Given the description of an element on the screen output the (x, y) to click on. 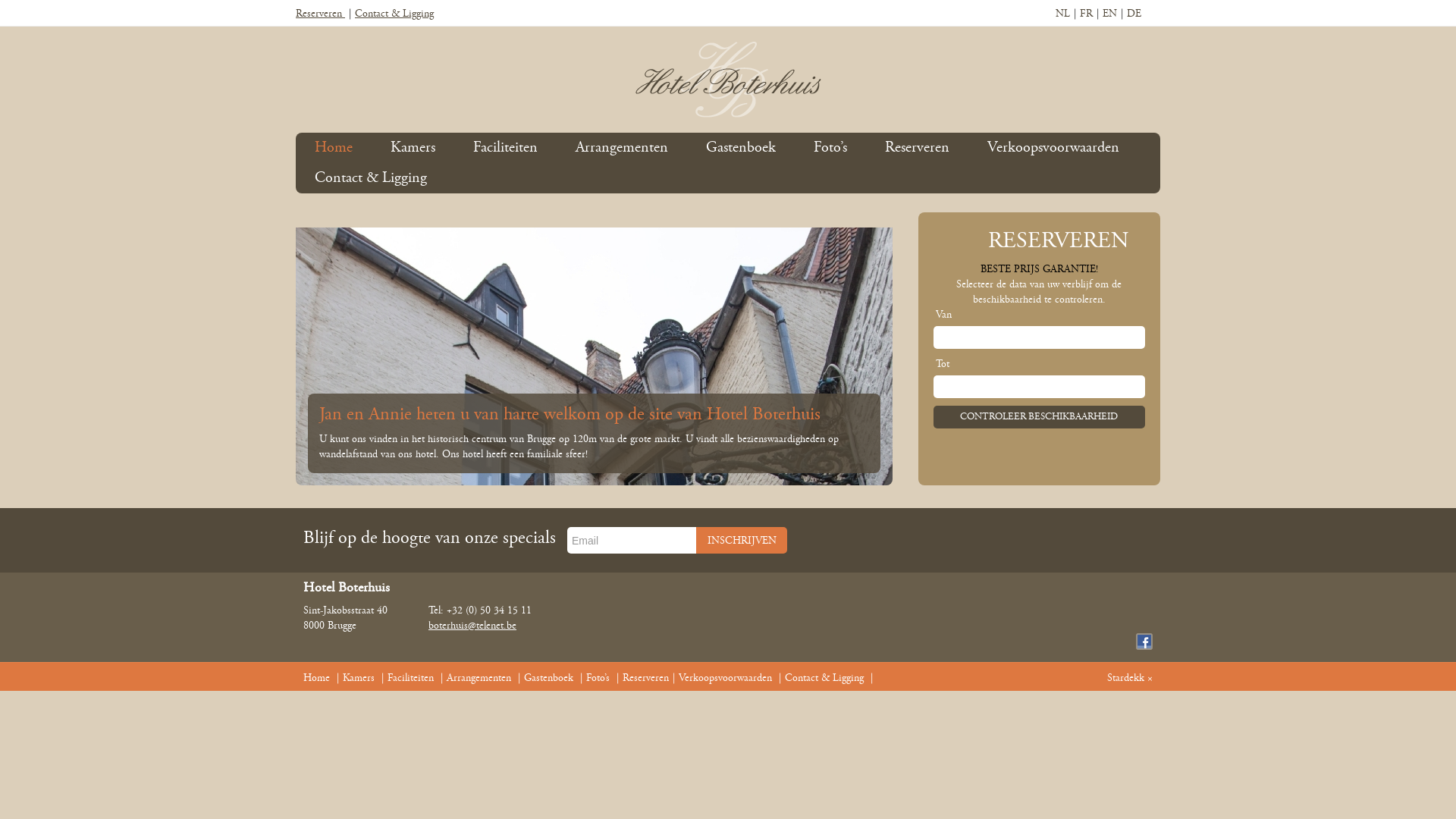
FR Element type: text (1085, 13)
Facebook Element type: text (1143, 641)
boterhuis@telenet.be Element type: text (472, 625)
Kamers Element type: text (358, 677)
Contact & Ligging Element type: text (370, 178)
Kamers Element type: text (412, 147)
Contact & Ligging Element type: text (823, 677)
Hotel Boterhuis Element type: hover (728, 79)
Faciliteiten Element type: text (410, 677)
Verkoopsvoorwaarden Element type: text (724, 677)
Faciliteiten Element type: text (505, 147)
Reserveren Element type: text (320, 13)
Verkoopsvoorwaarden Element type: text (1053, 147)
Controleer beschikbaarheid Element type: text (1039, 416)
Contact & Ligging Element type: text (393, 13)
Reserveren Element type: text (645, 677)
EN Element type: text (1109, 13)
Home Element type: text (316, 677)
NL Element type: text (1062, 13)
Arrangementen Element type: text (621, 147)
Arrangementen Element type: text (478, 677)
Home Element type: text (333, 147)
Gastenboek Element type: text (740, 147)
Reserveren Element type: text (916, 147)
Gastenboek Element type: text (548, 677)
DE Element type: text (1133, 13)
